Given the description of an element on the screen output the (x, y) to click on. 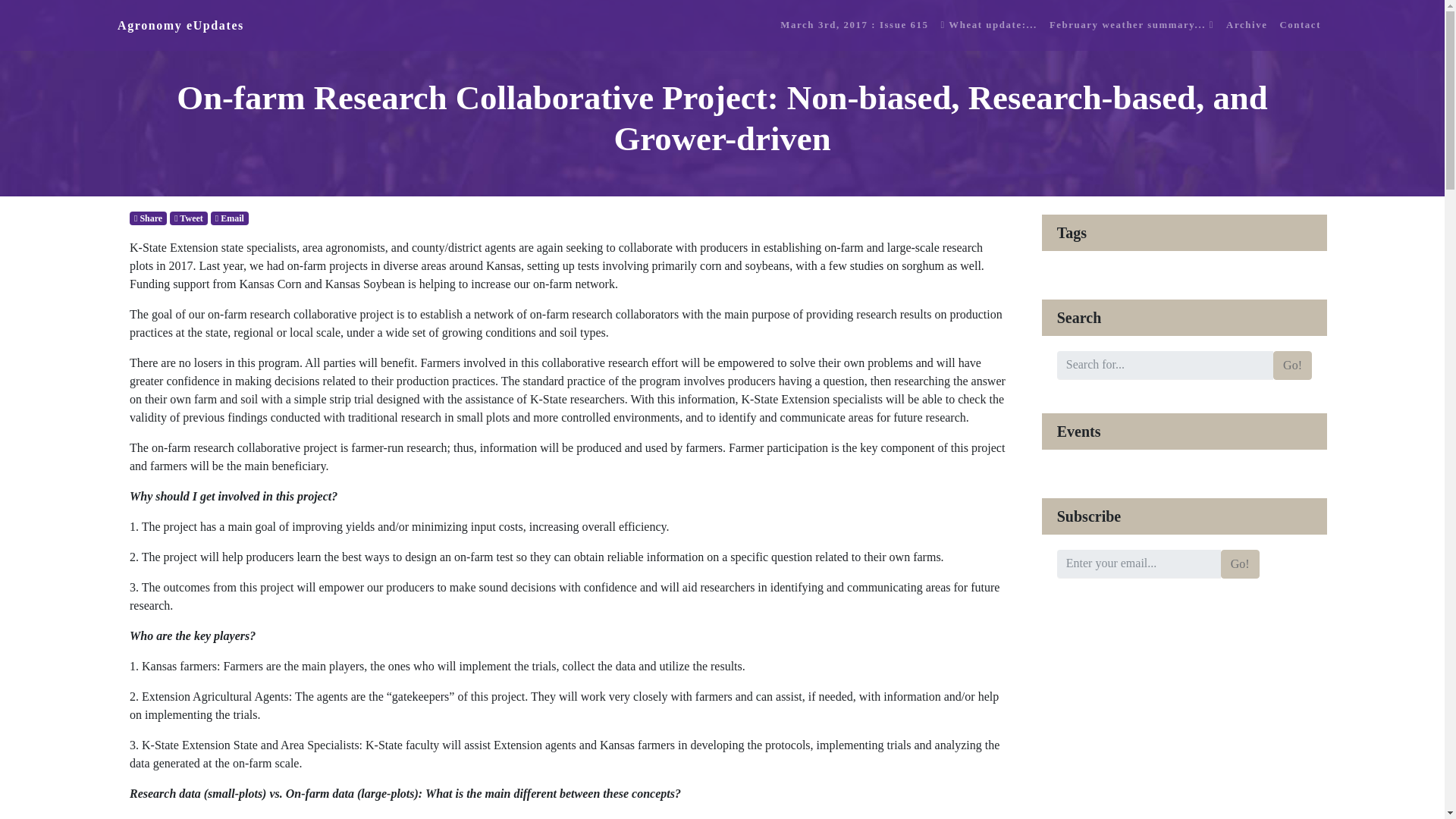
Agronomy eUpdates (180, 25)
February weather summary...  (1131, 25)
Go! (1240, 563)
Share (148, 217)
 Wheat update:... (988, 25)
Go! (1291, 364)
Archive (1246, 25)
March 3rd, 2017 : Issue 615 (854, 25)
Tweet (189, 217)
Email (229, 217)
Contact (1299, 25)
